Given the description of an element on the screen output the (x, y) to click on. 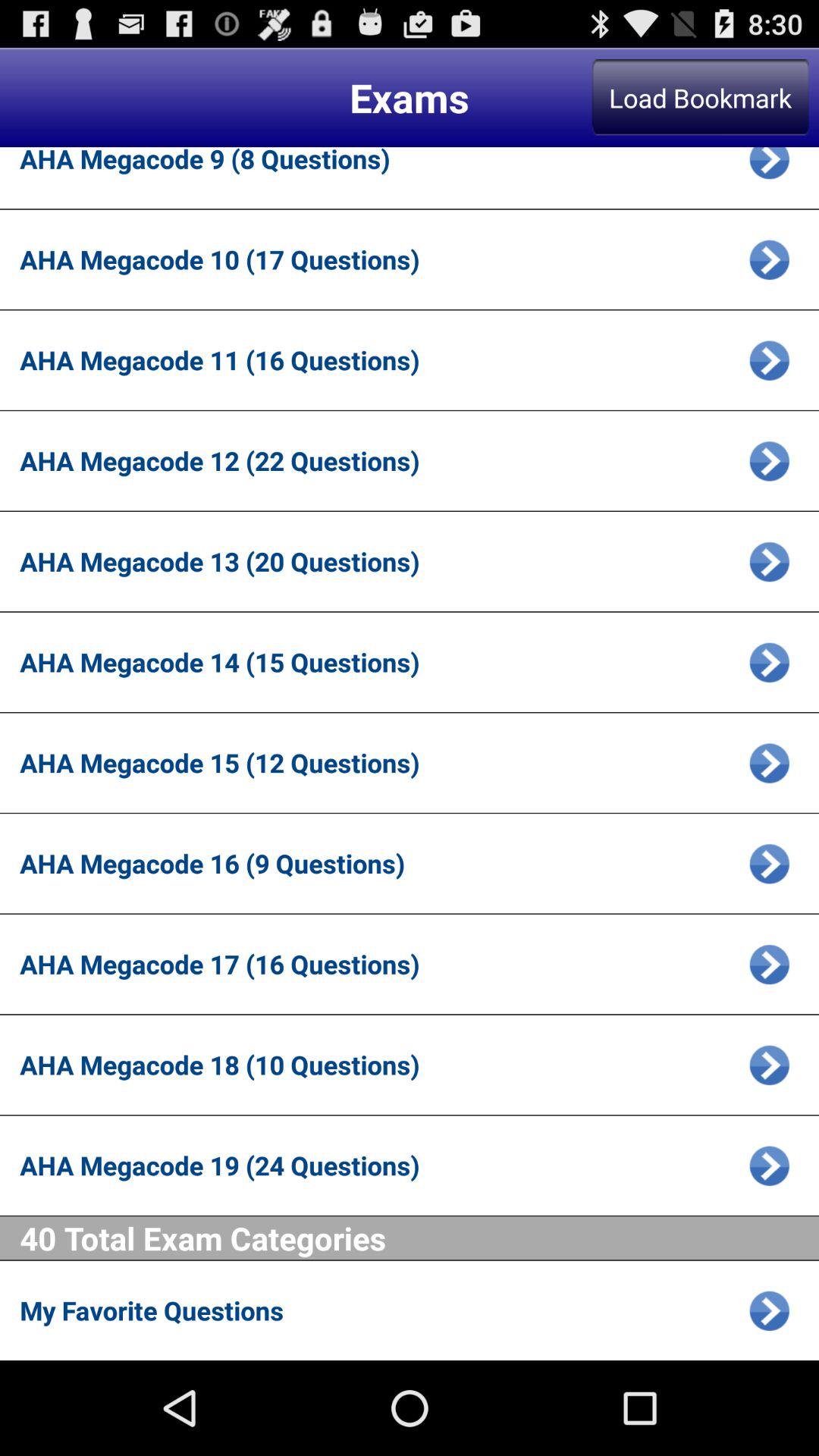
choose (769, 561)
